Given the description of an element on the screen output the (x, y) to click on. 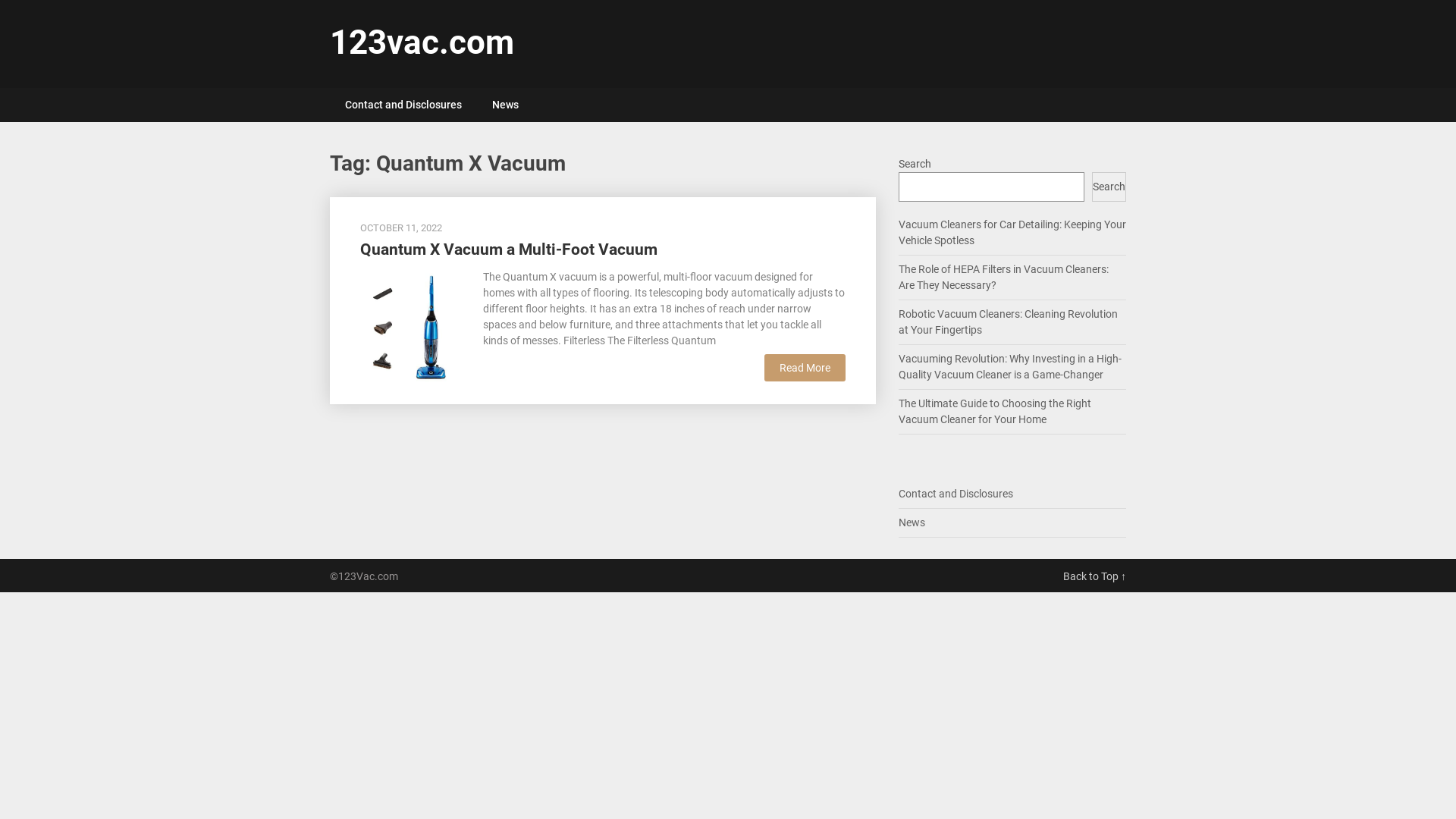
Contact and Disclosures Element type: text (955, 493)
Contact and Disclosures Element type: text (402, 104)
News Element type: text (911, 522)
Read More Element type: text (804, 367)
Search Element type: text (1109, 186)
News Element type: text (504, 104)
123vac.com Element type: text (421, 42)
Quantum X Vacuum a Multi-Foot Vacuum Element type: text (508, 249)
Quantum X Vacuum a Multi-Foot Vacuum Element type: hover (413, 324)
